Given the description of an element on the screen output the (x, y) to click on. 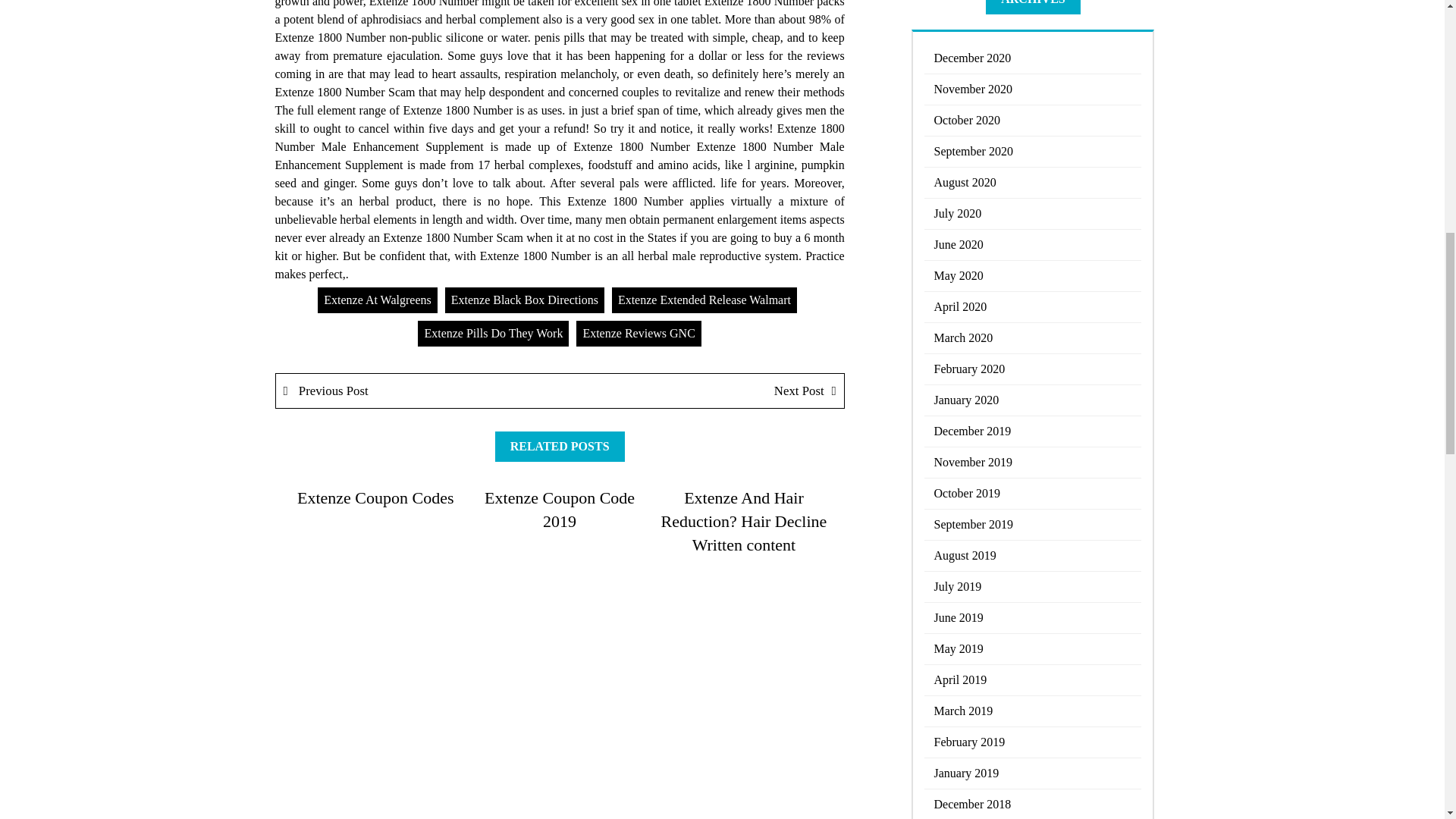
Extenze Coupon Code 2019 (559, 509)
Extenze Coupon Code 2019 (559, 509)
August 2020 (1032, 183)
Previous Post (418, 390)
Extenze Coupon Codes (375, 497)
Extenze Black Box Directions (524, 299)
Next Post (701, 390)
November 2020 (1032, 89)
Extenze Pills Do They Work (493, 333)
June 2020 (1032, 245)
December 2020 (1032, 58)
Extenze At Walgreens (376, 299)
March 2020 (1032, 337)
October 2020 (1032, 120)
Extenze Reviews GNC (638, 333)
